Given the description of an element on the screen output the (x, y) to click on. 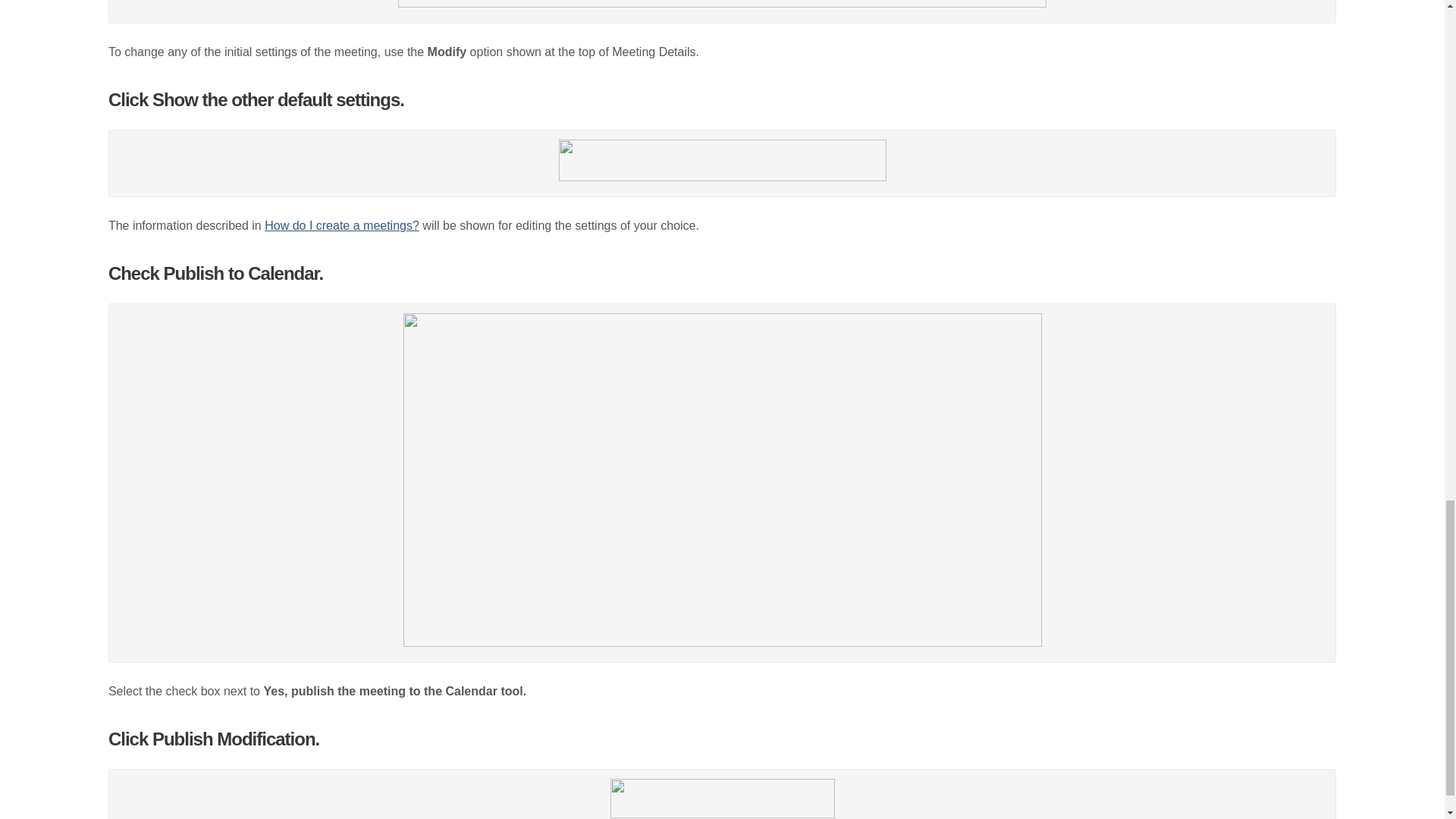
How do I create a meetings? (341, 225)
